Given the description of an element on the screen output the (x, y) to click on. 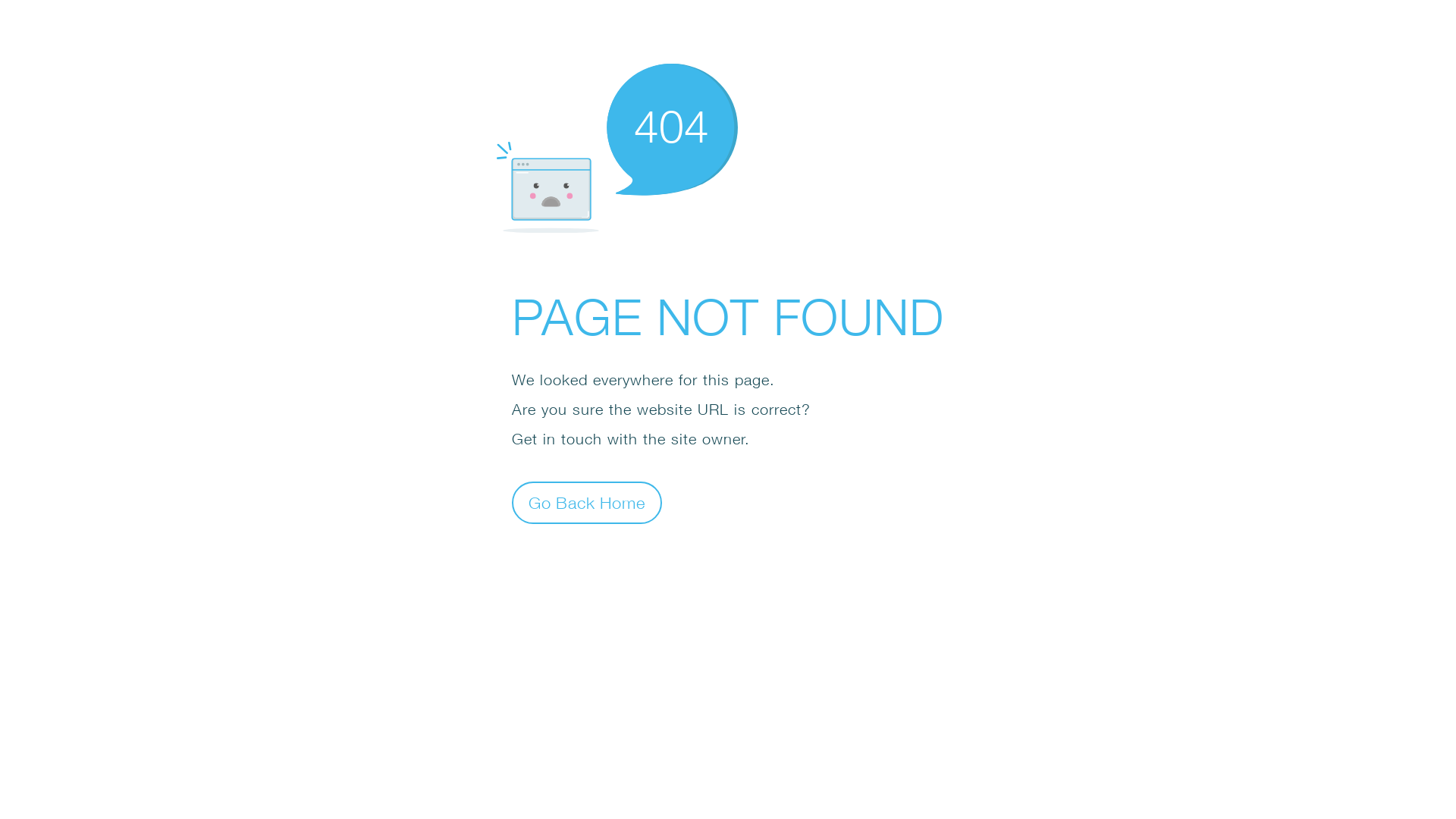
Go Back Home Element type: text (586, 502)
